Given the description of an element on the screen output the (x, y) to click on. 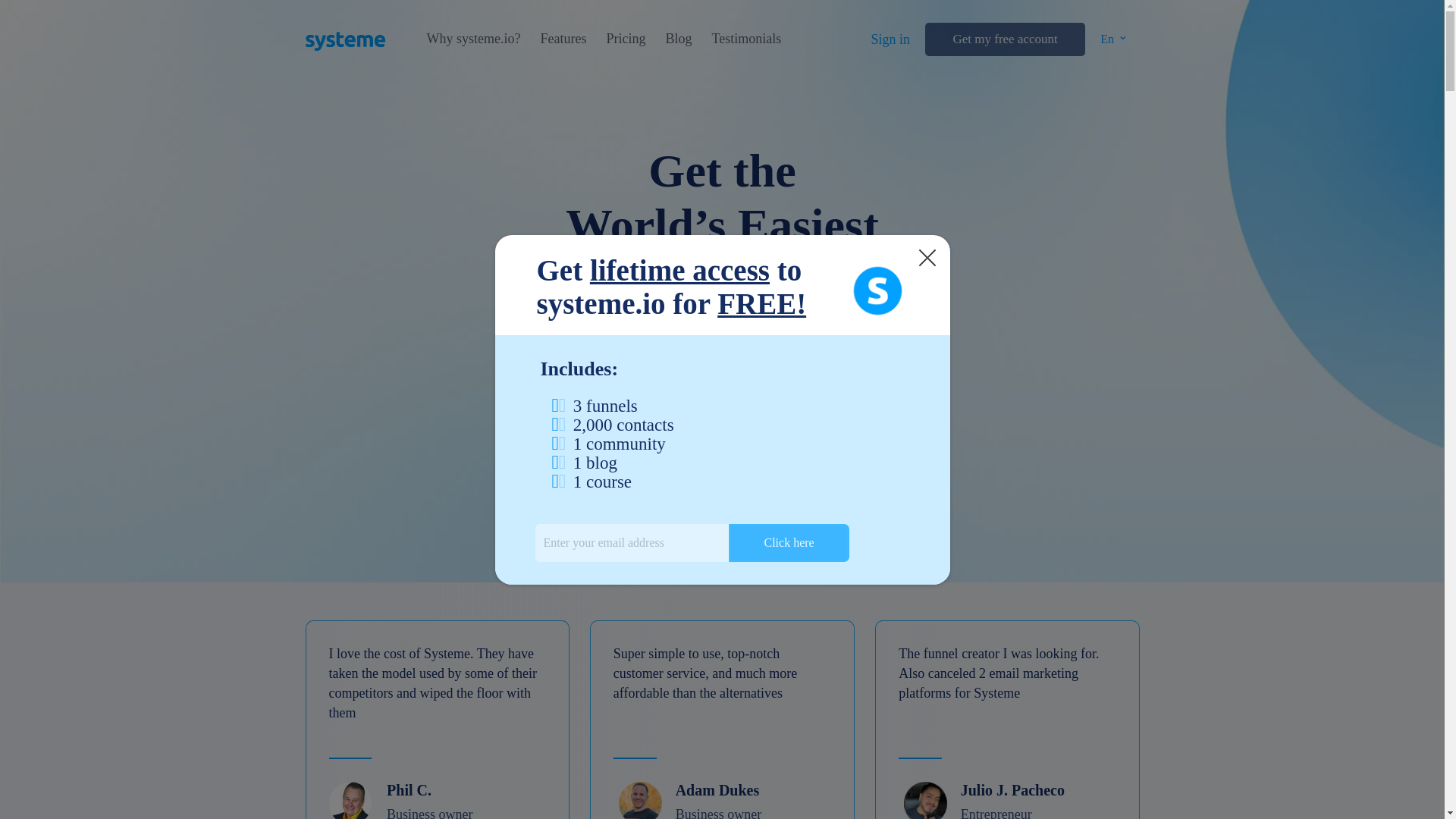
Testimonials (745, 38)
Sign in (890, 39)
Pricing (625, 38)
Get my free account (1004, 39)
Blog (678, 38)
Features (563, 38)
Why systeme.io? (472, 38)
